Given the description of an element on the screen output the (x, y) to click on. 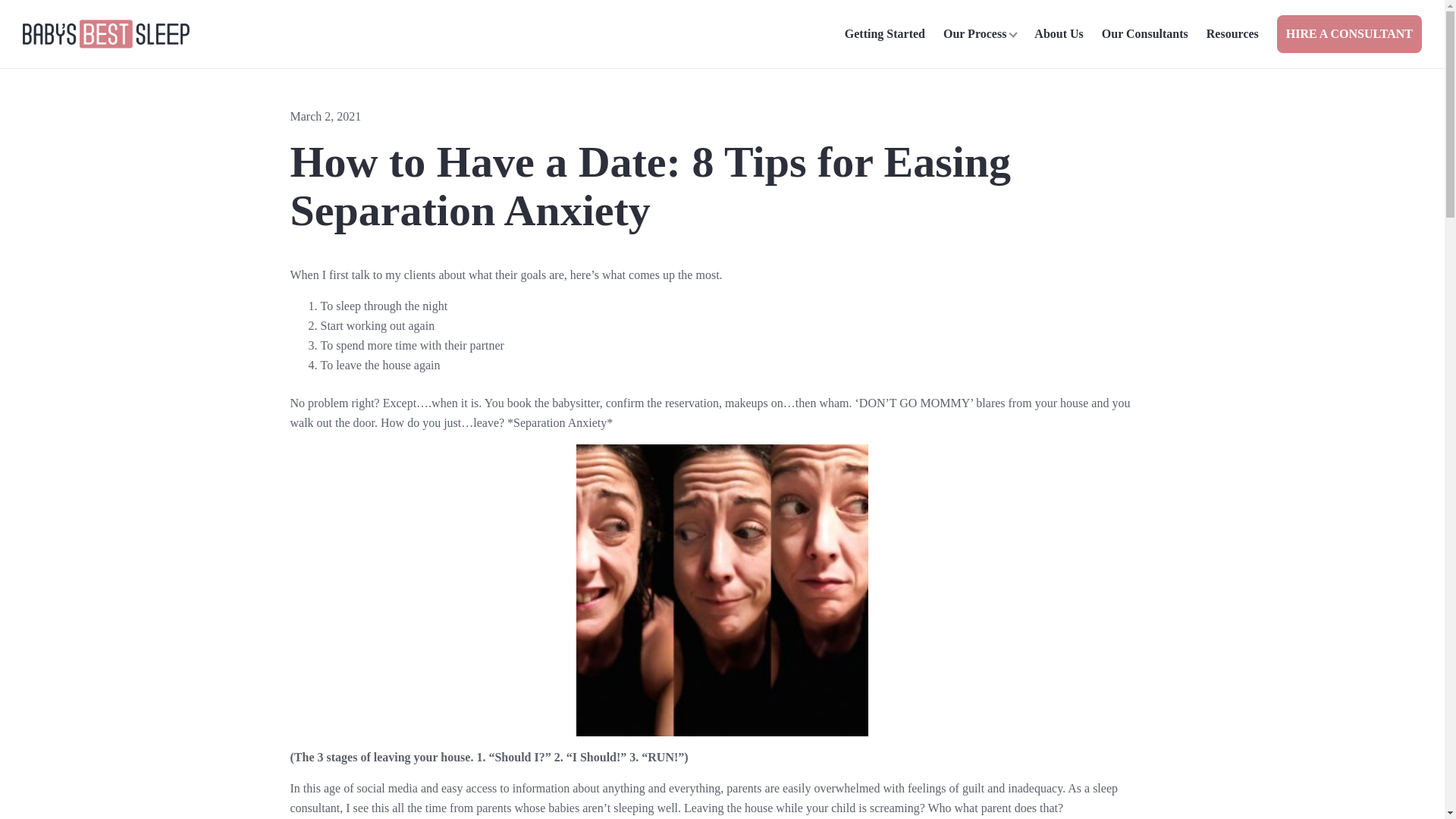
HIRE A CONSULTANT (1349, 34)
Getting Started (884, 34)
BBS-Main (106, 33)
Resources (1232, 34)
Our Process (979, 34)
About Us (1058, 34)
Our Consultants (1144, 34)
